Given the description of an element on the screen output the (x, y) to click on. 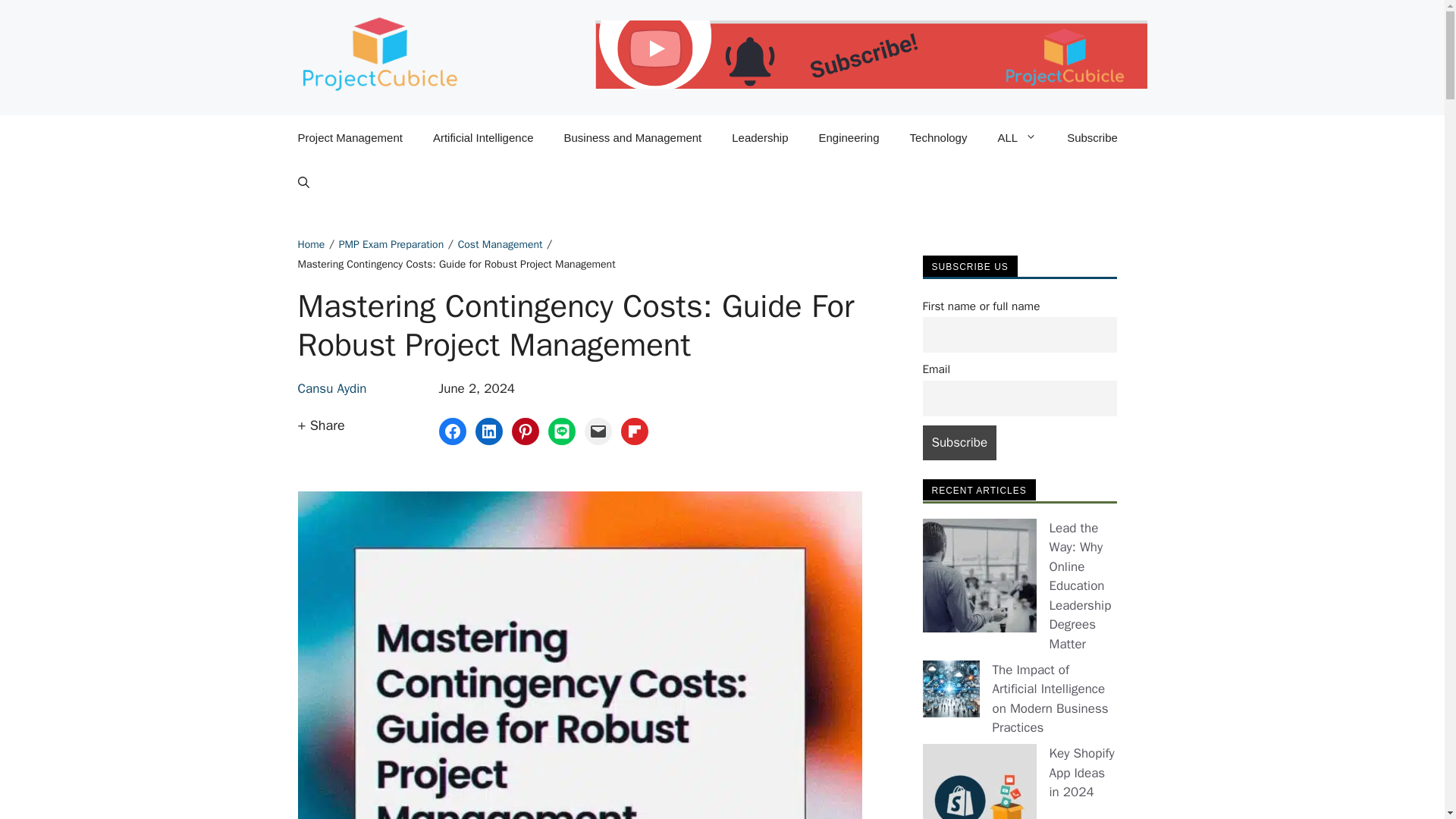
ALL (1016, 137)
Subscribe (958, 443)
Project Management (349, 137)
Engineering (848, 137)
Leadership (759, 137)
Artificial Intelligence (482, 137)
Business and Management (632, 137)
Technology (938, 137)
